Given the description of an element on the screen output the (x, y) to click on. 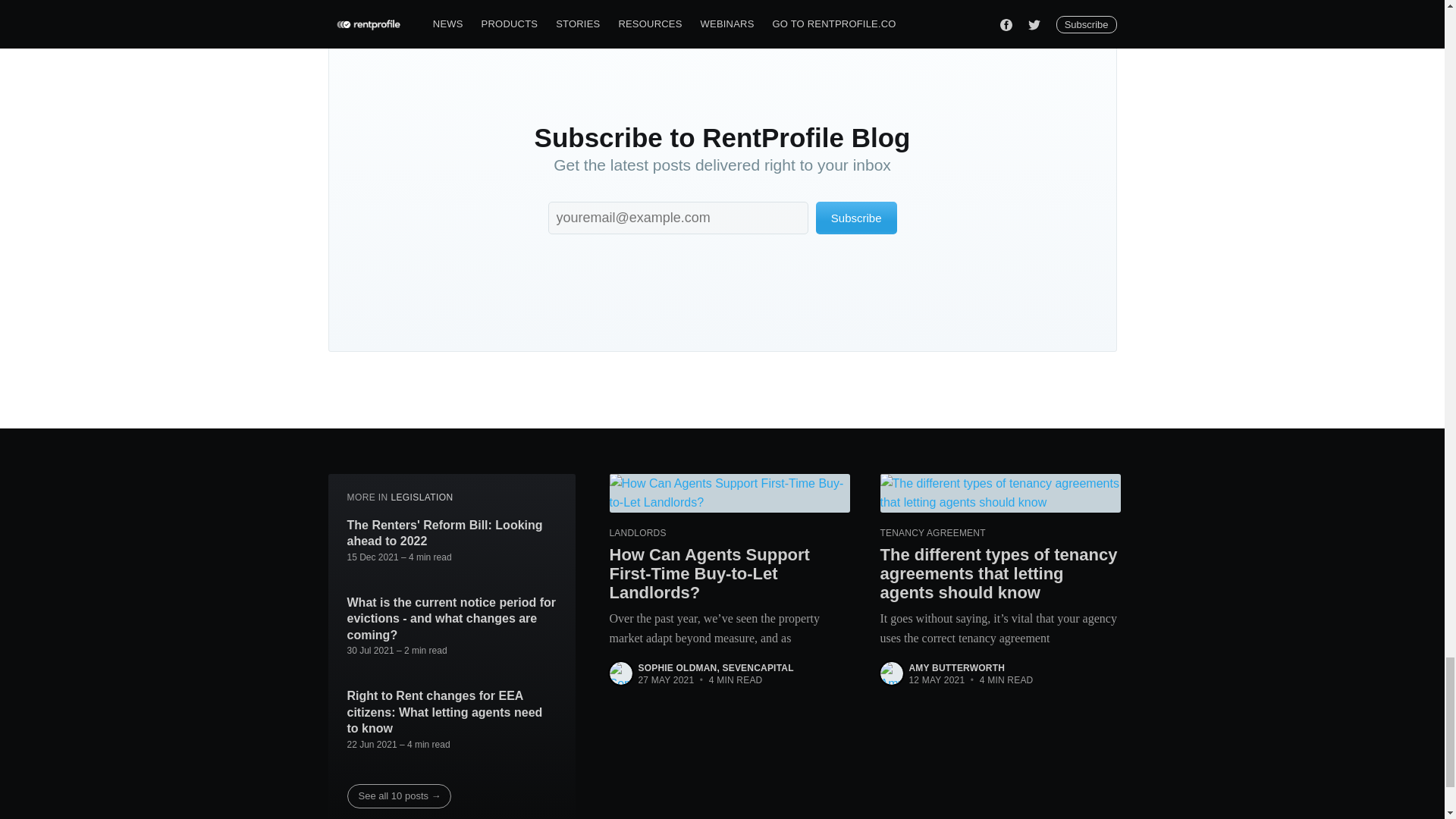
LEGISLATION (421, 497)
SOPHIE OLDMAN, SEVENCAPITAL (716, 667)
The Renters' Reform Bill: Looking ahead to 2022 (451, 532)
Subscribe (855, 217)
AMY BUTTERWORTH (956, 667)
